Given the description of an element on the screen output the (x, y) to click on. 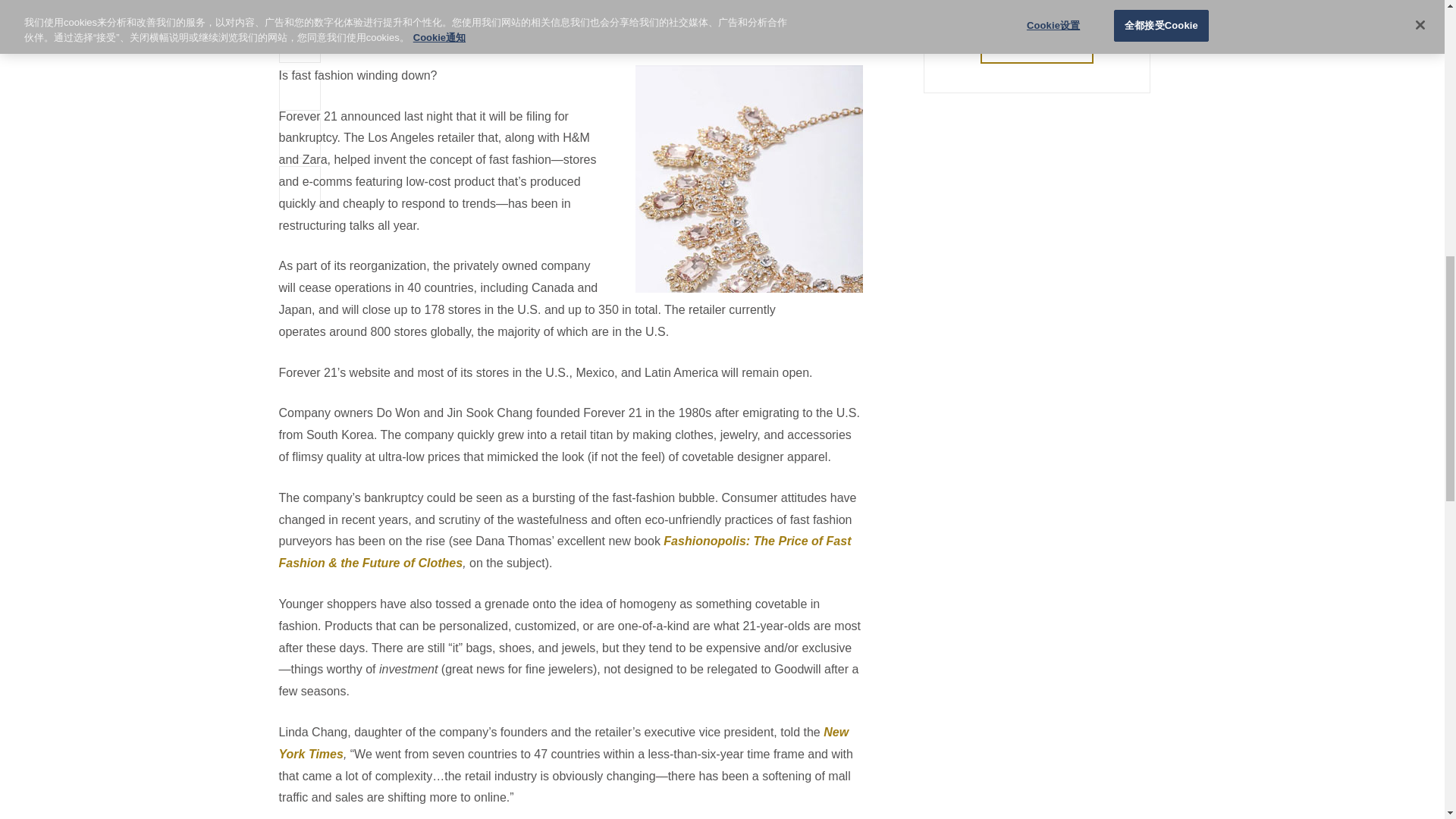
3rd party ad content (1037, 227)
3rd party ad content (1037, 667)
